Given the description of an element on the screen output the (x, y) to click on. 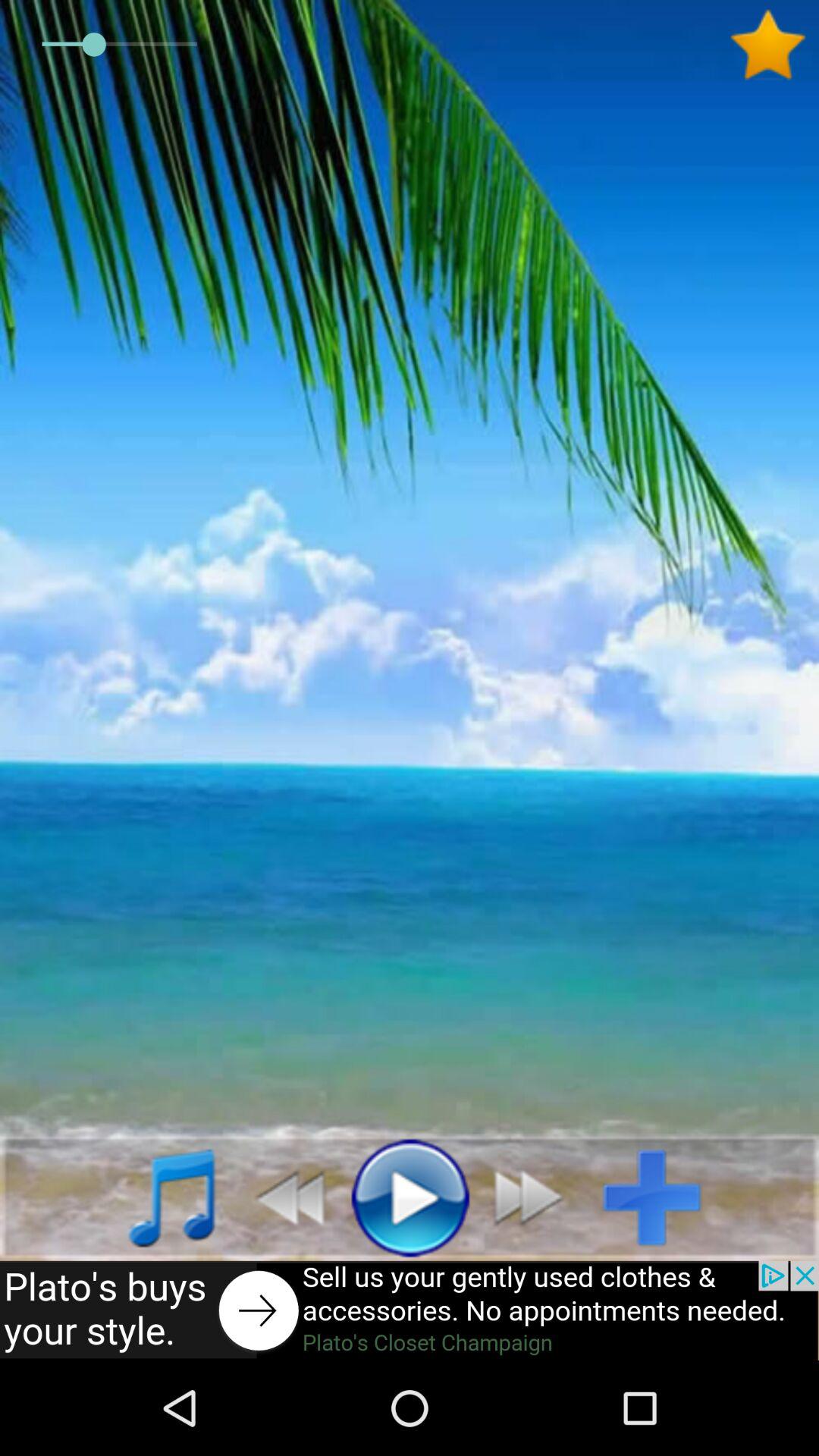
select forward (536, 1196)
